Given the description of an element on the screen output the (x, y) to click on. 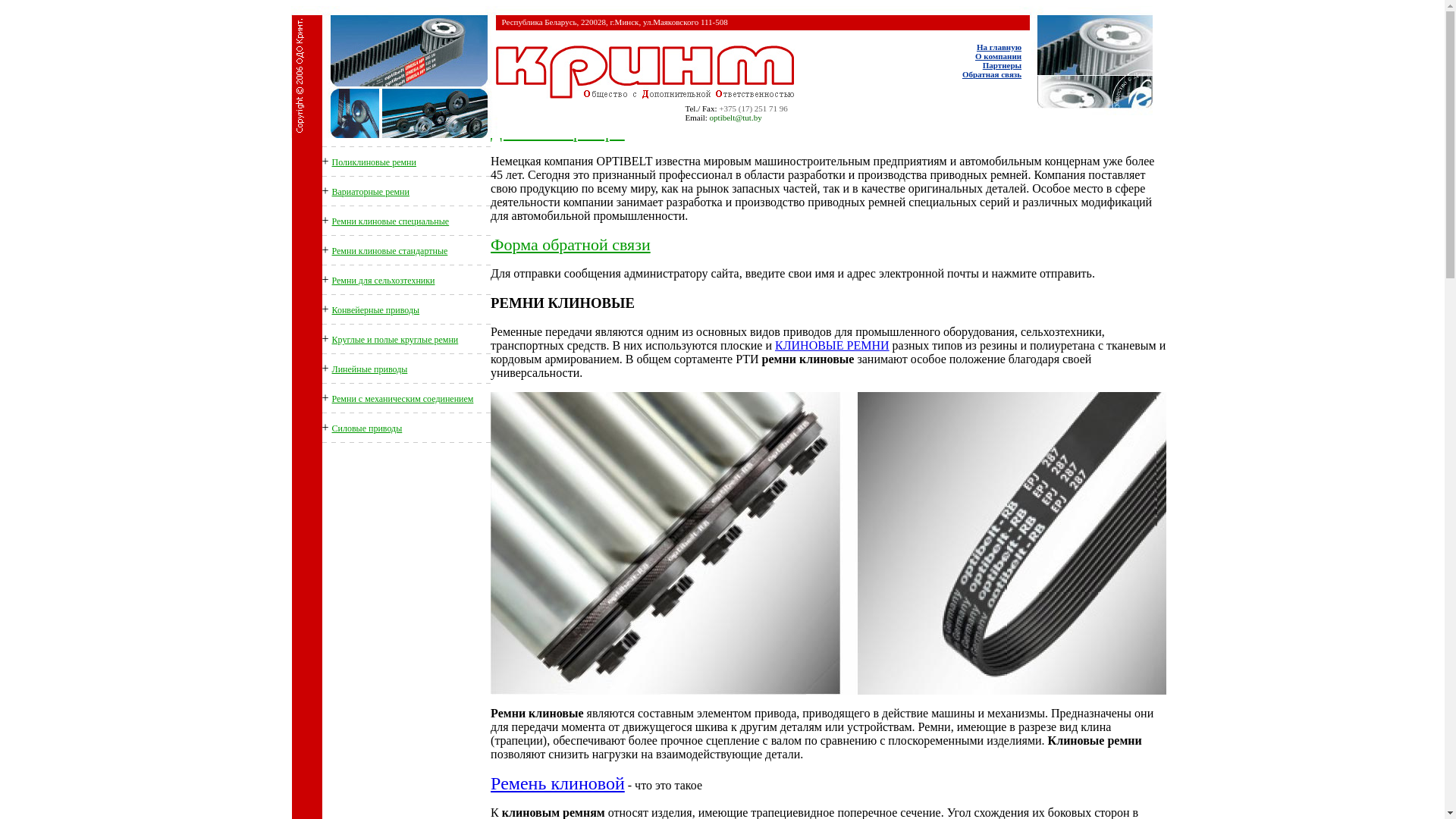
http://www.optibelt.by/ Element type: hover (645, 71)
optibelt@tut.by Element type: text (735, 117)
